Given the description of an element on the screen output the (x, y) to click on. 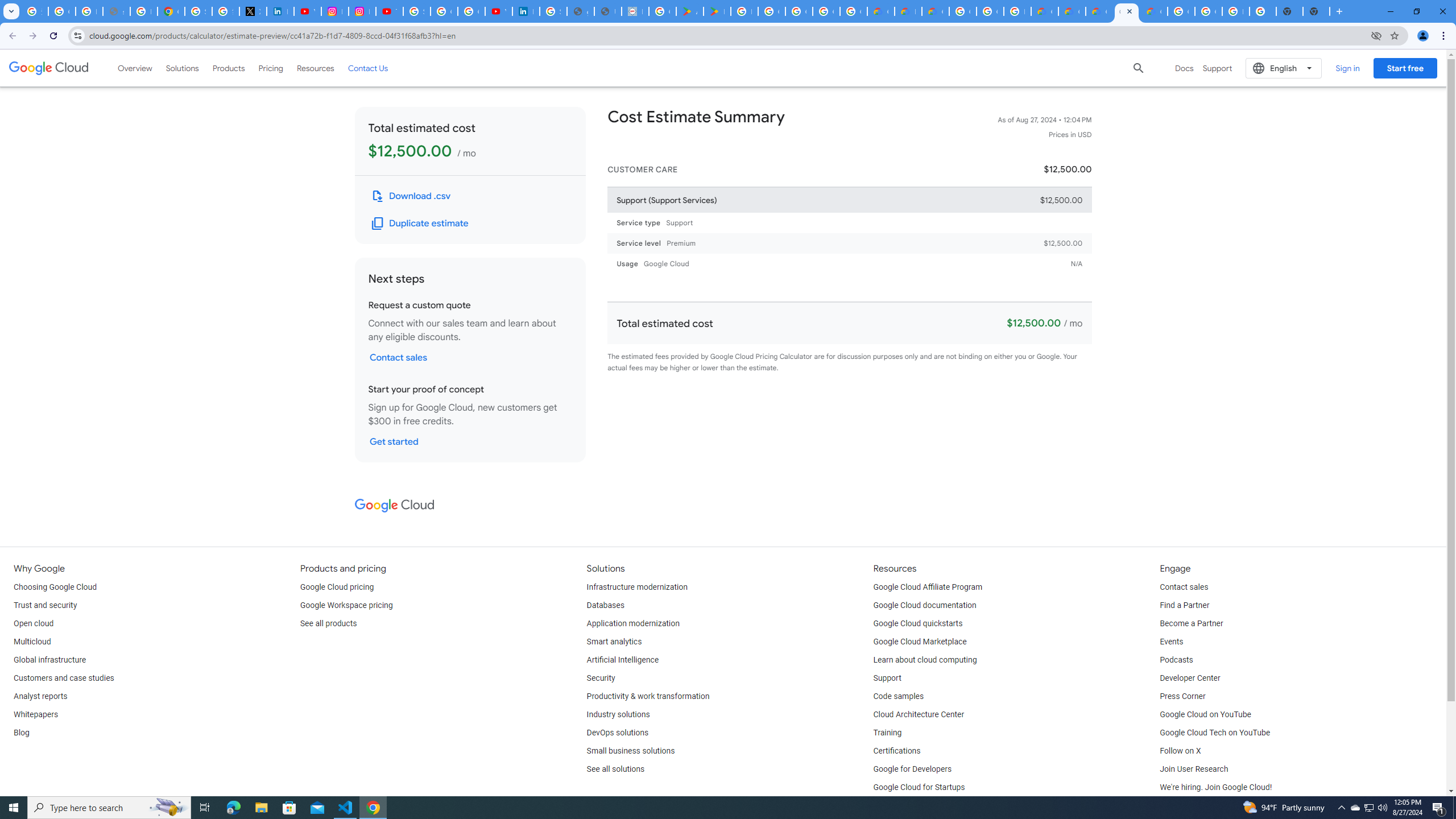
Industry solutions (617, 714)
Customers and case studies (64, 678)
Privacy Help Center - Policies Help (144, 11)
Google Cloud Estimate Summary (1126, 11)
Google Cloud Platform (1208, 11)
LinkedIn Privacy Policy (280, 11)
